Given the description of an element on the screen output the (x, y) to click on. 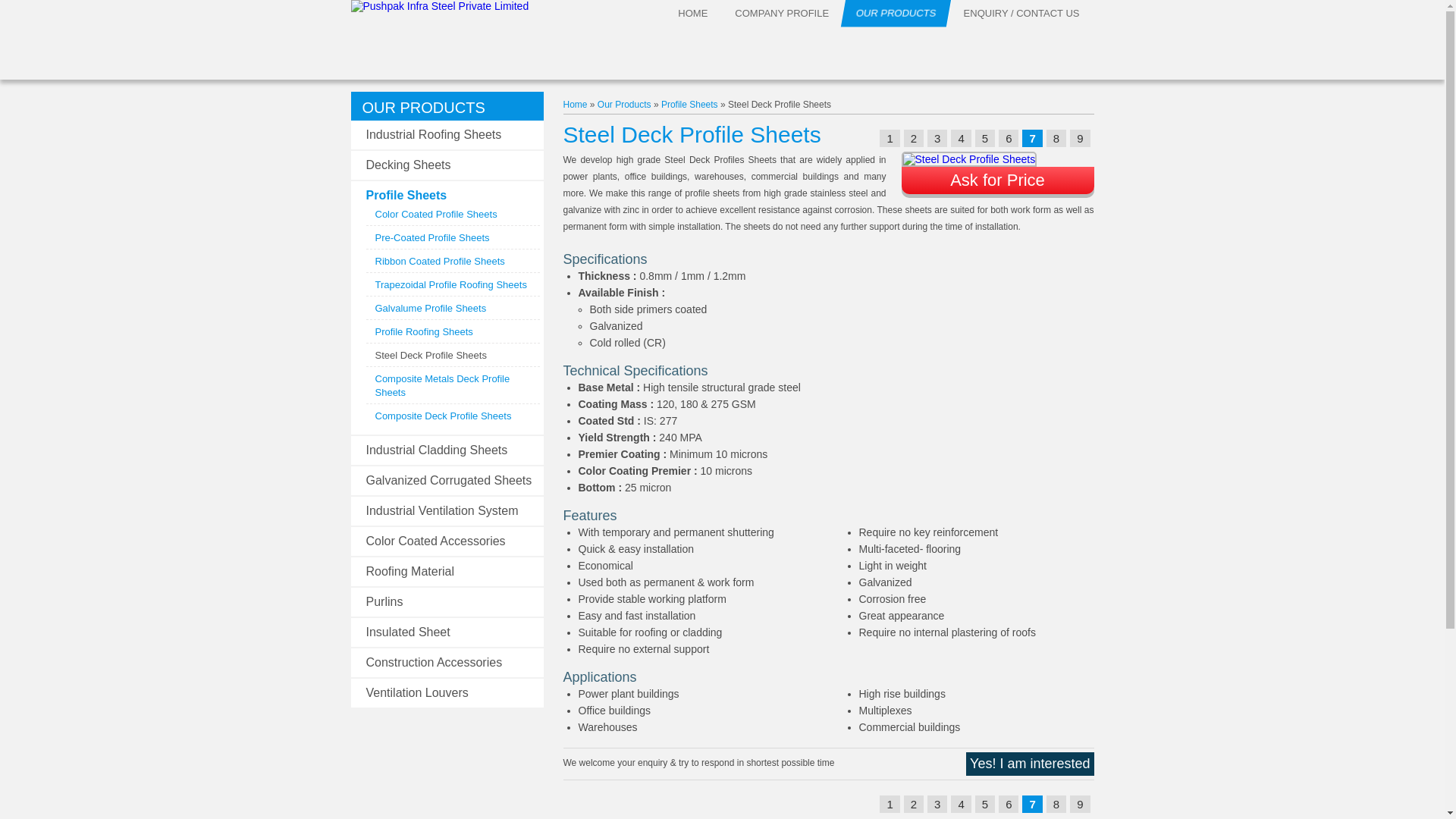
Composite Deck Profile Sheets (442, 415)
OUR PRODUCTS (893, 13)
COMPANY PROFILE (781, 13)
Profile Sheets (405, 195)
OUR PRODUCTS (423, 107)
Composite Metals Deck Profile Sheets (441, 385)
Industrial Cladding Sheets (435, 449)
Decking Sheets (407, 164)
HOME (692, 13)
Pre-Coated Profile Sheets (431, 237)
